Given the description of an element on the screen output the (x, y) to click on. 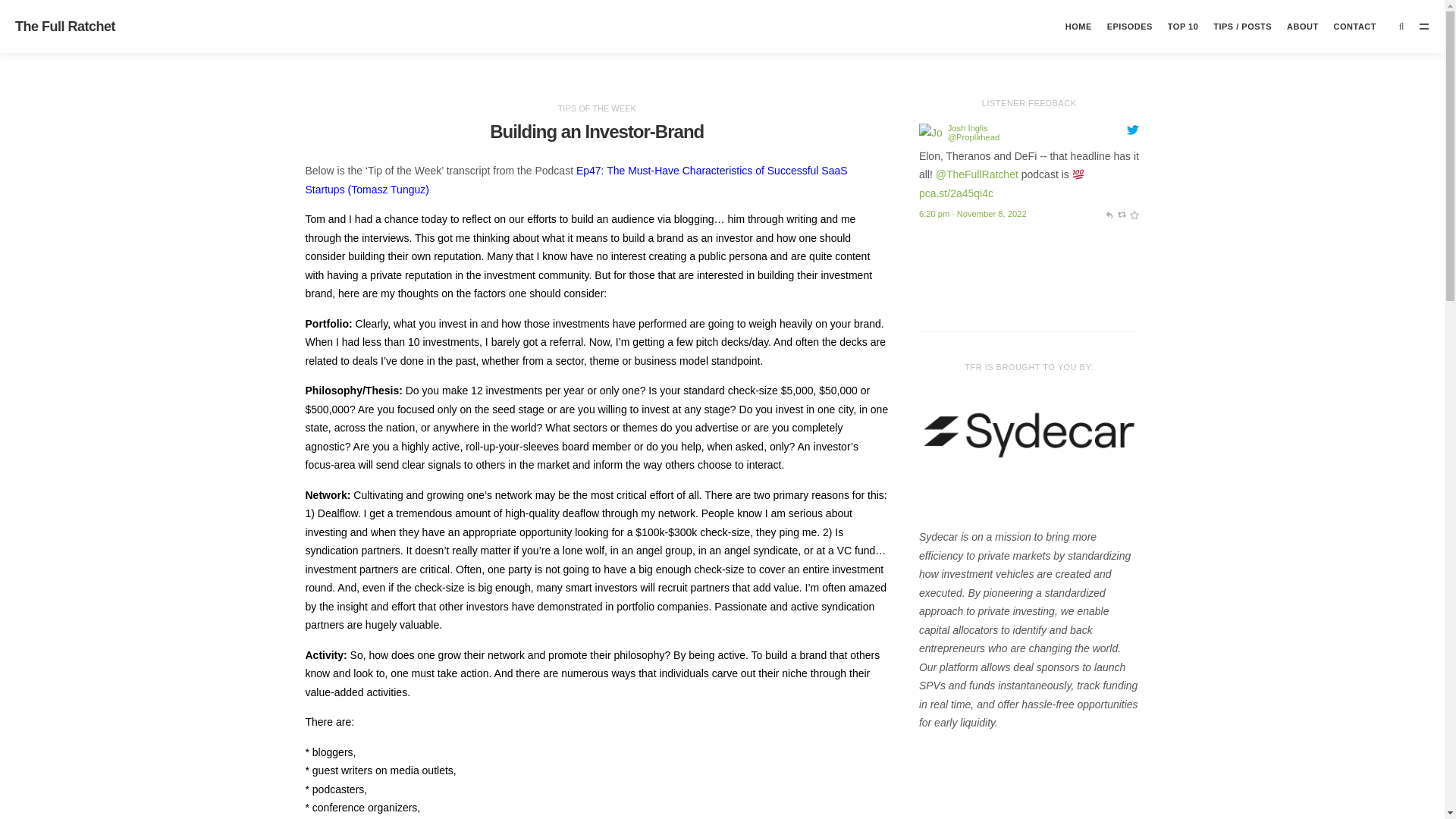
The Full Ratchet (64, 26)
CONTACT (1354, 26)
EPISODES (1129, 26)
TIPS OF THE WEEK (596, 108)
